Given the description of an element on the screen output the (x, y) to click on. 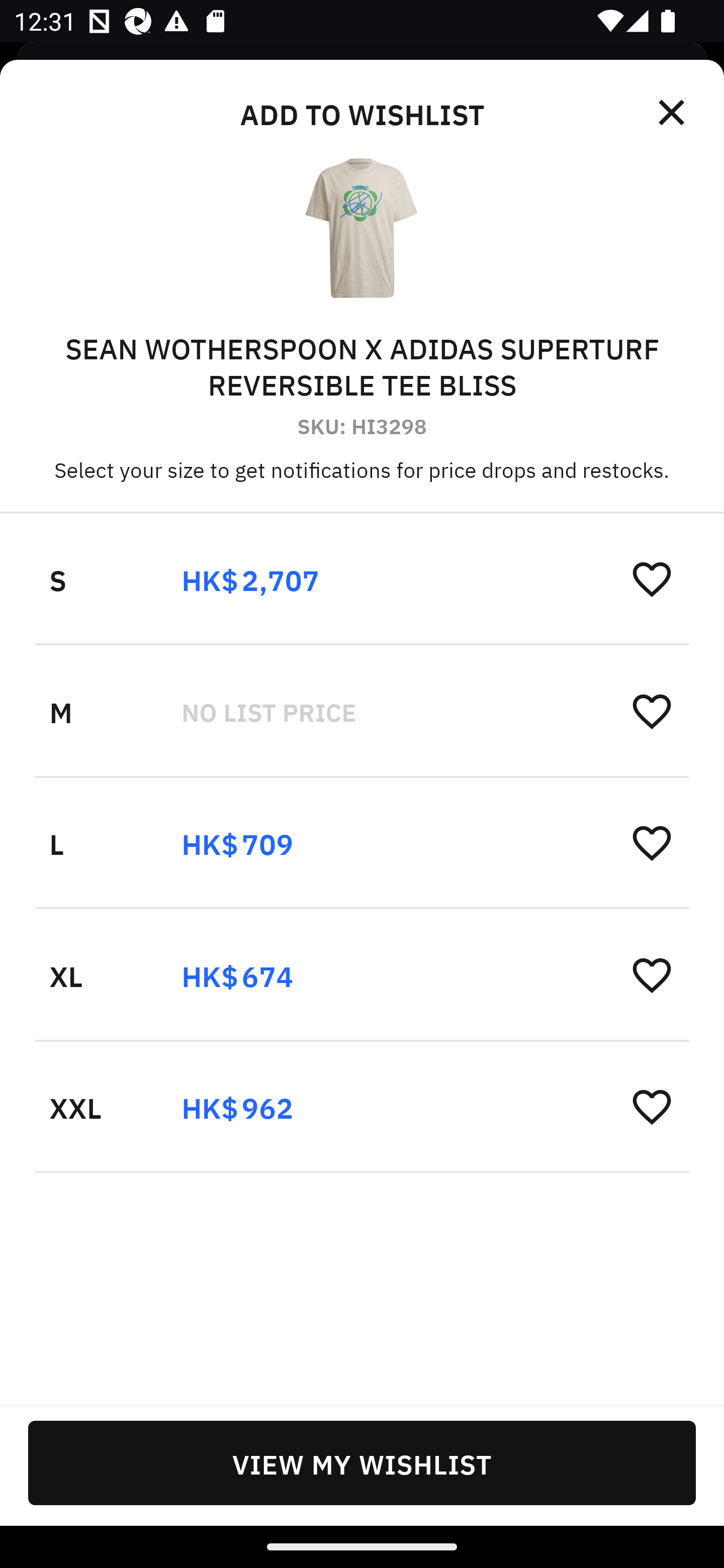
 (672, 112)
󰋕 (651, 578)
󰋕 (651, 710)
󰋕 (651, 842)
󰋕 (651, 974)
󰋕 (651, 1105)
VIEW MY WISHLIST (361, 1462)
